Given the description of an element on the screen output the (x, y) to click on. 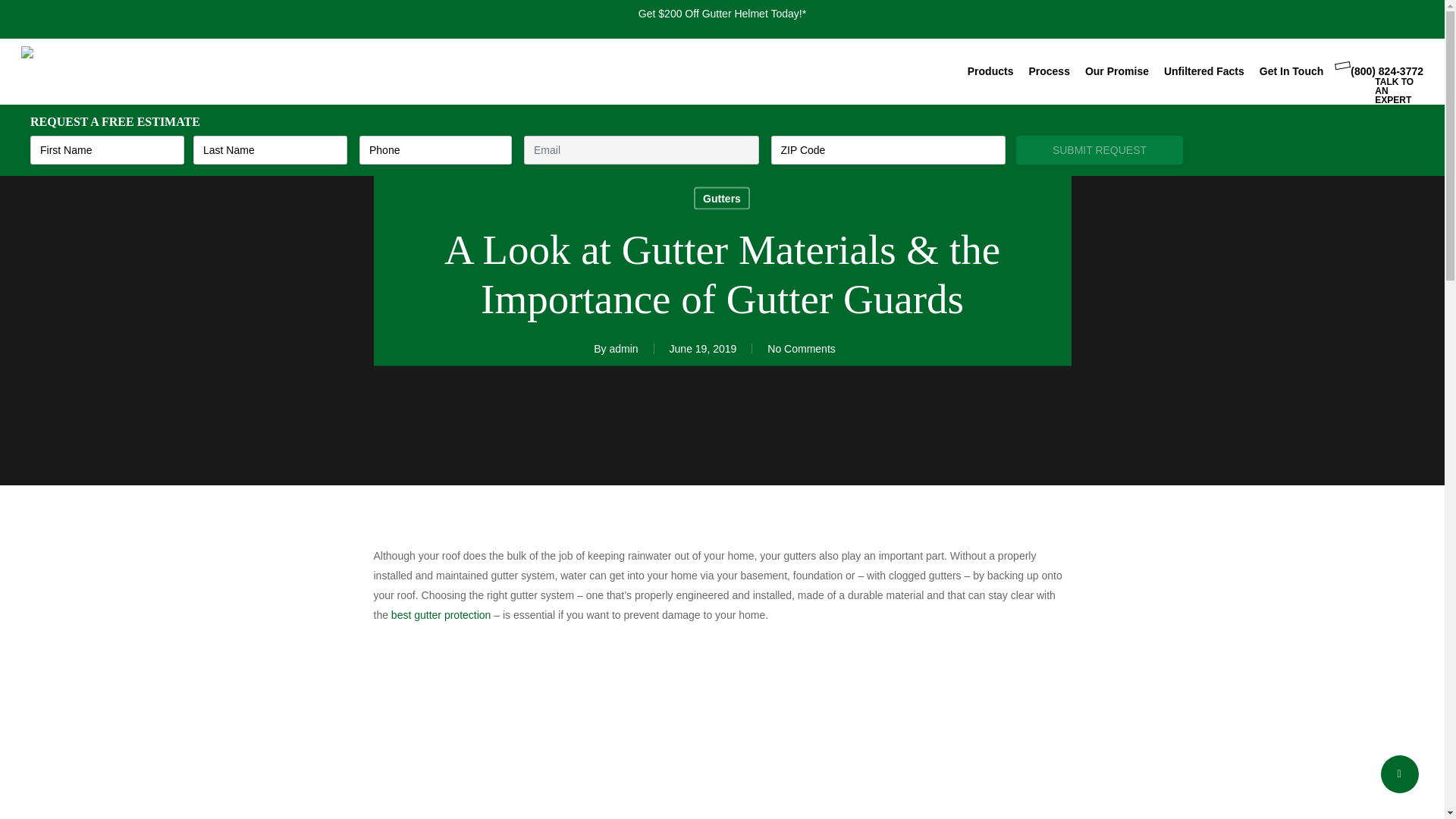
No Comments (800, 348)
Our Promise (1116, 70)
Gutters (721, 197)
Posts by admin (622, 348)
Products (990, 70)
best gutter protection (441, 614)
SUBMIT REQUEST (1099, 149)
Unfiltered Facts (1203, 70)
SUBMIT REQUEST (1099, 149)
admin (622, 348)
Process (1047, 70)
Get In Touch (1291, 70)
